Given the description of an element on the screen output the (x, y) to click on. 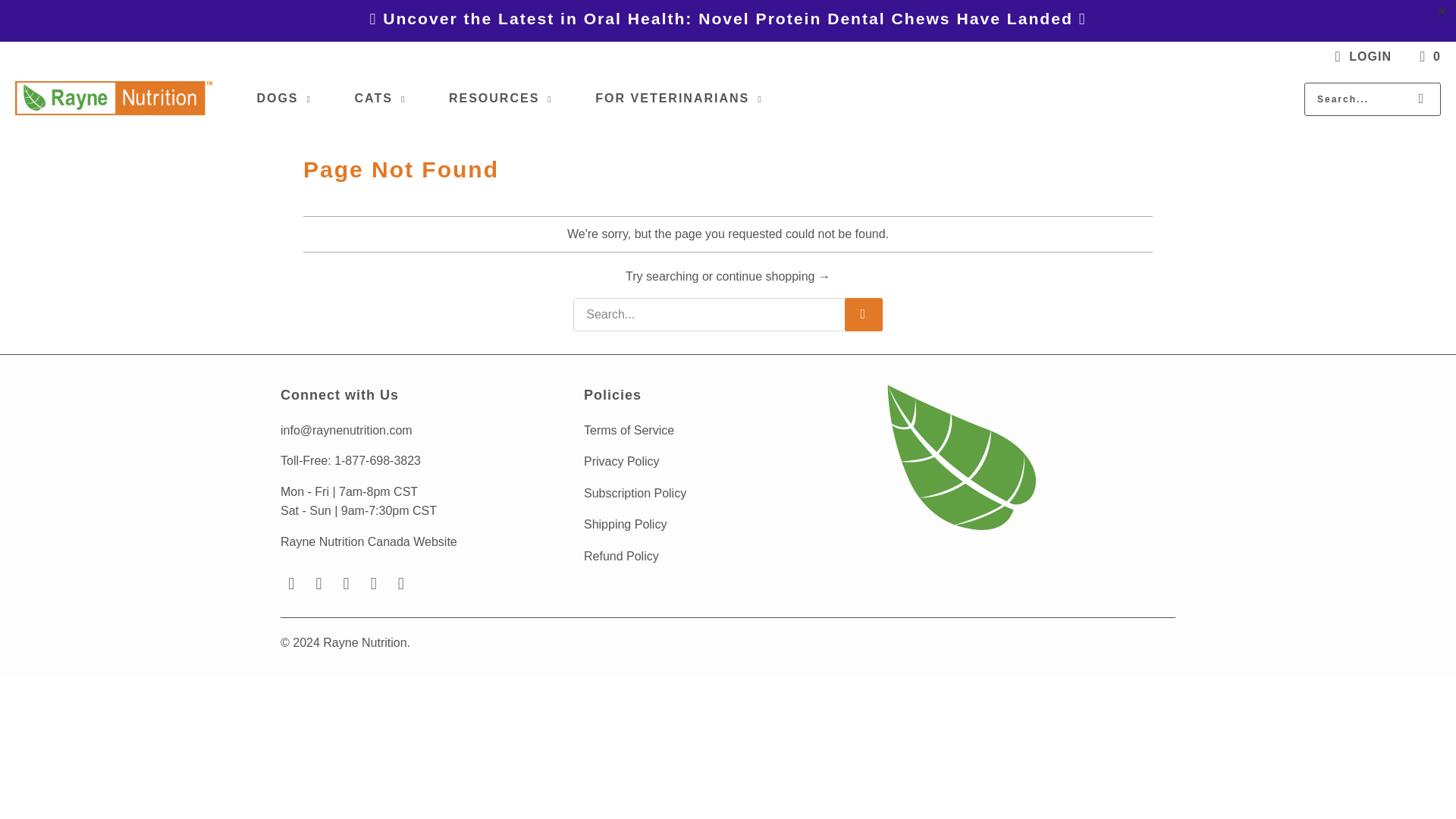
Rayne Nutrition (113, 99)
Contact Us (346, 430)
Email Rayne Nutrition (291, 583)
Kangaroo Dental Chews (727, 18)
My Account  (1359, 56)
Rayne Nutrition on Facebook (318, 583)
